Given the description of an element on the screen output the (x, y) to click on. 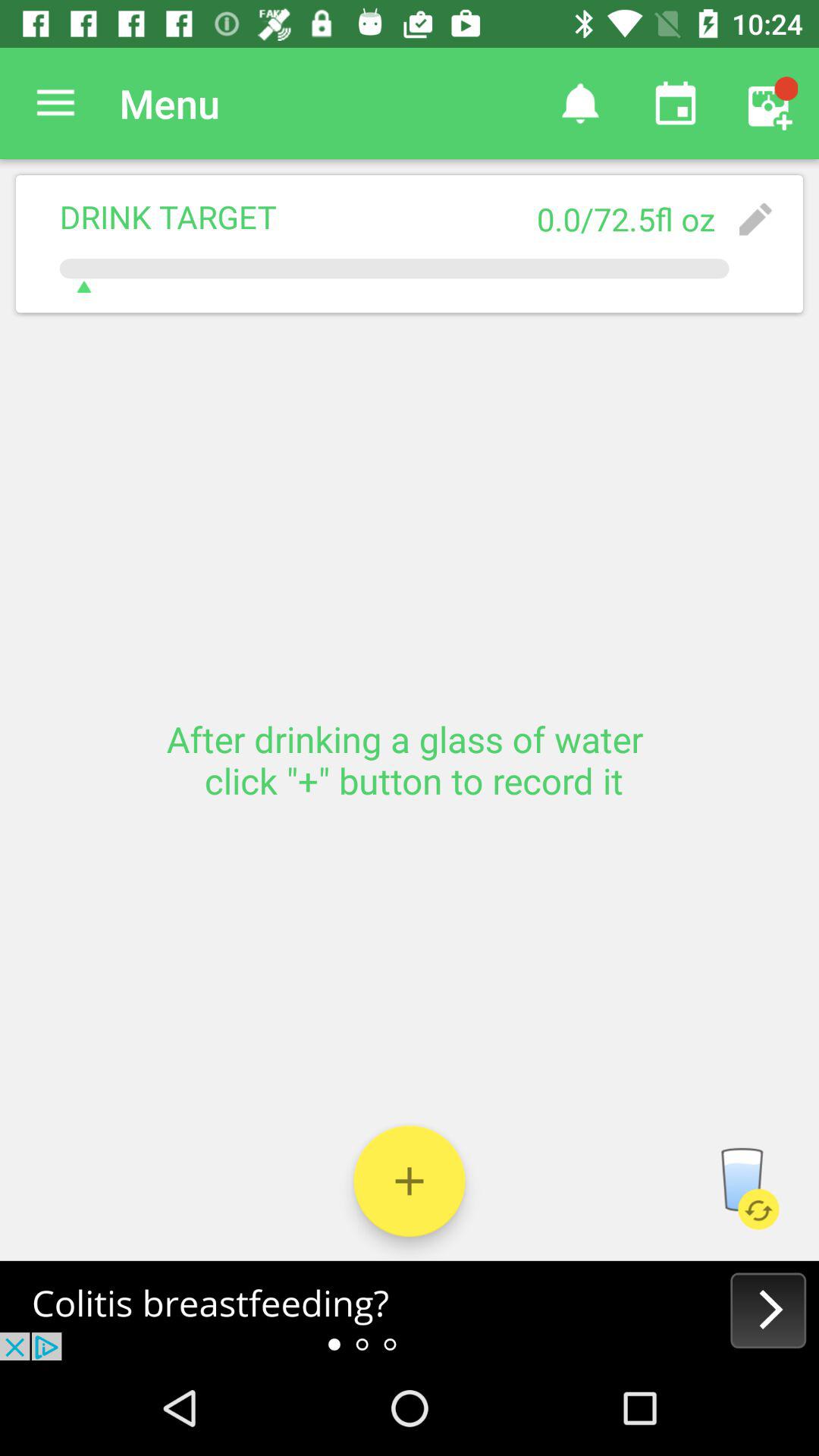
click arrow button (409, 1310)
